Given the description of an element on the screen output the (x, y) to click on. 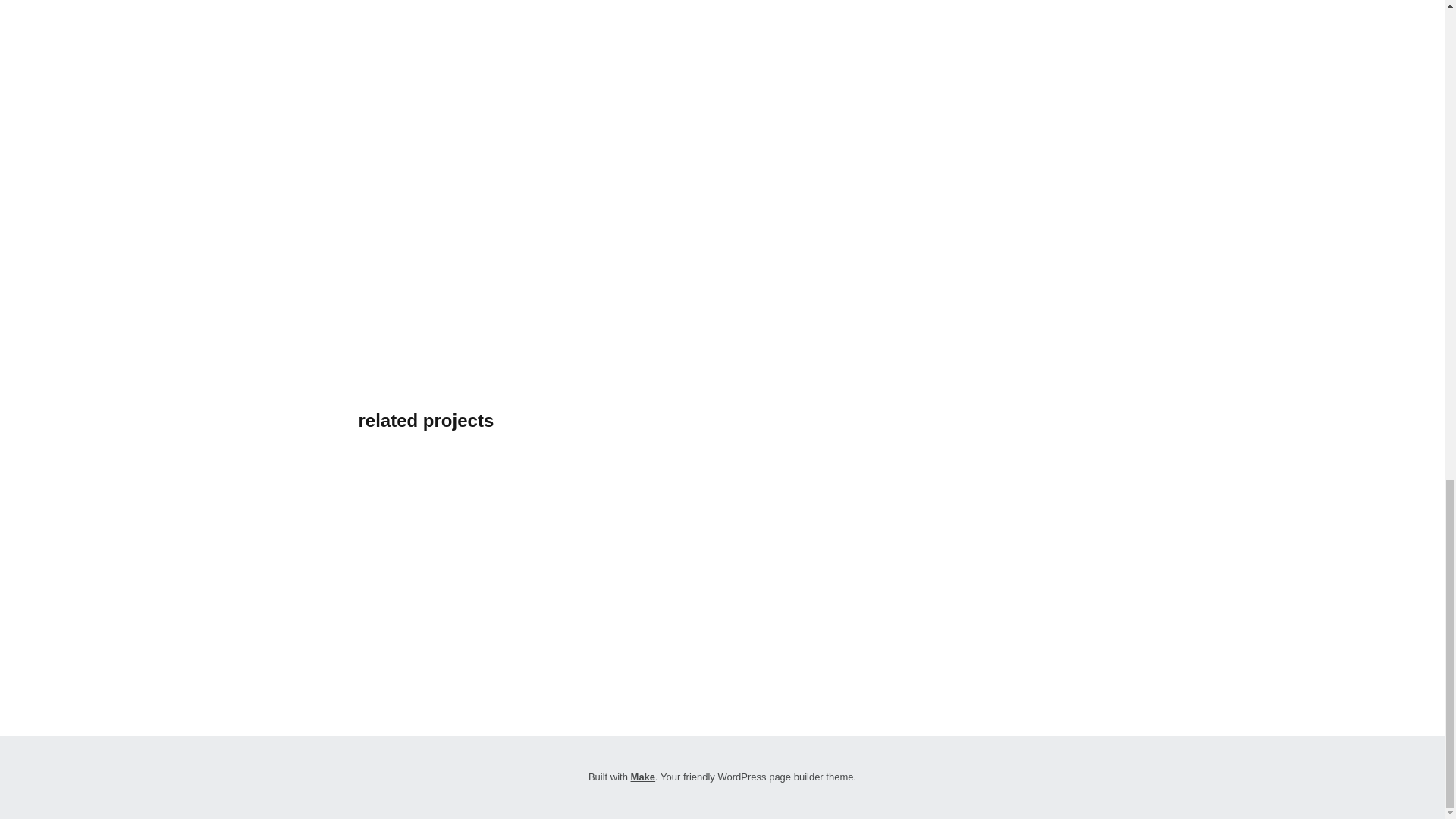
Make (643, 776)
